Given the description of an element on the screen output the (x, y) to click on. 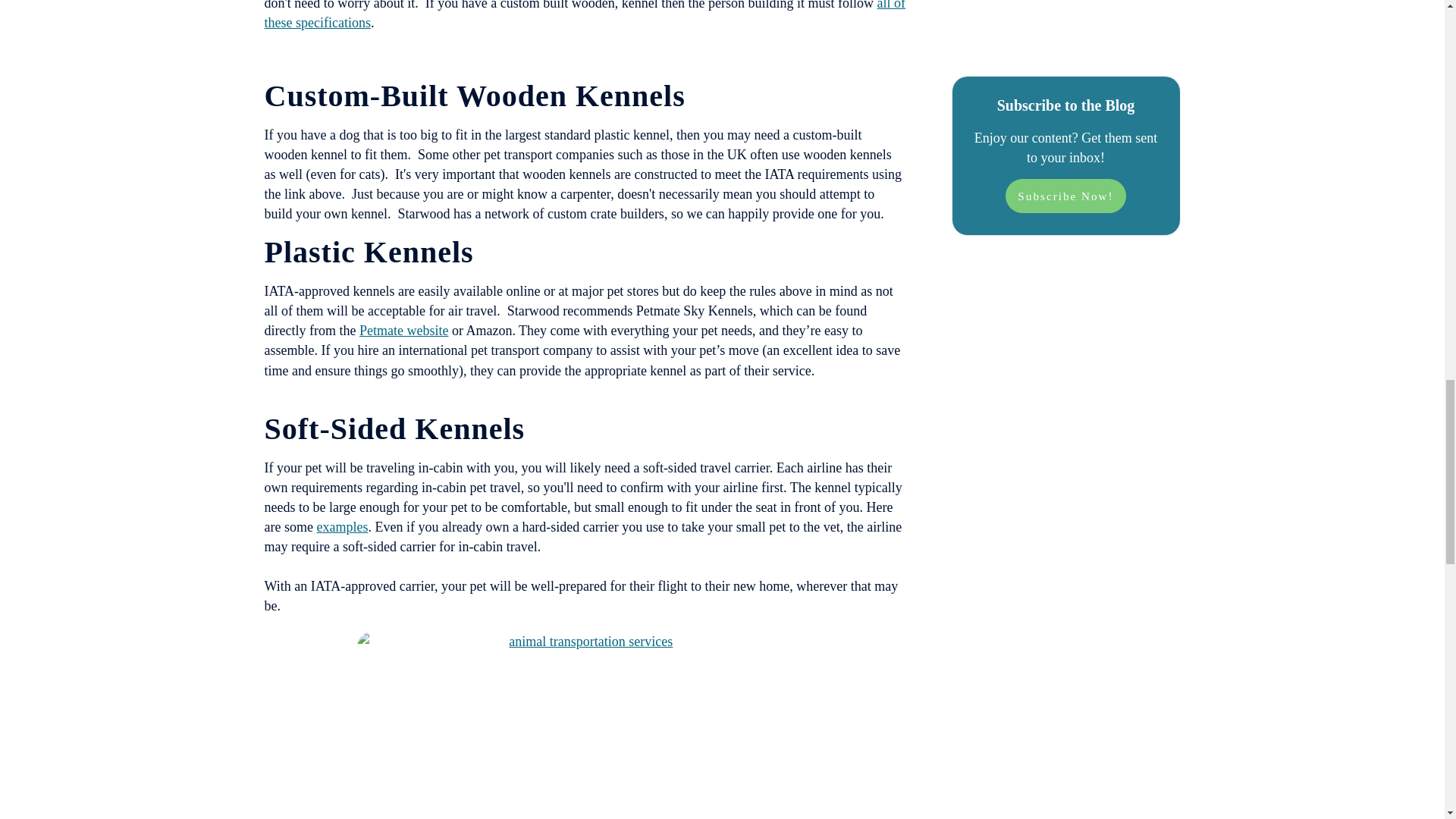
Petmate website (403, 330)
examples (341, 526)
all of these specifications (584, 15)
